Given the description of an element on the screen output the (x, y) to click on. 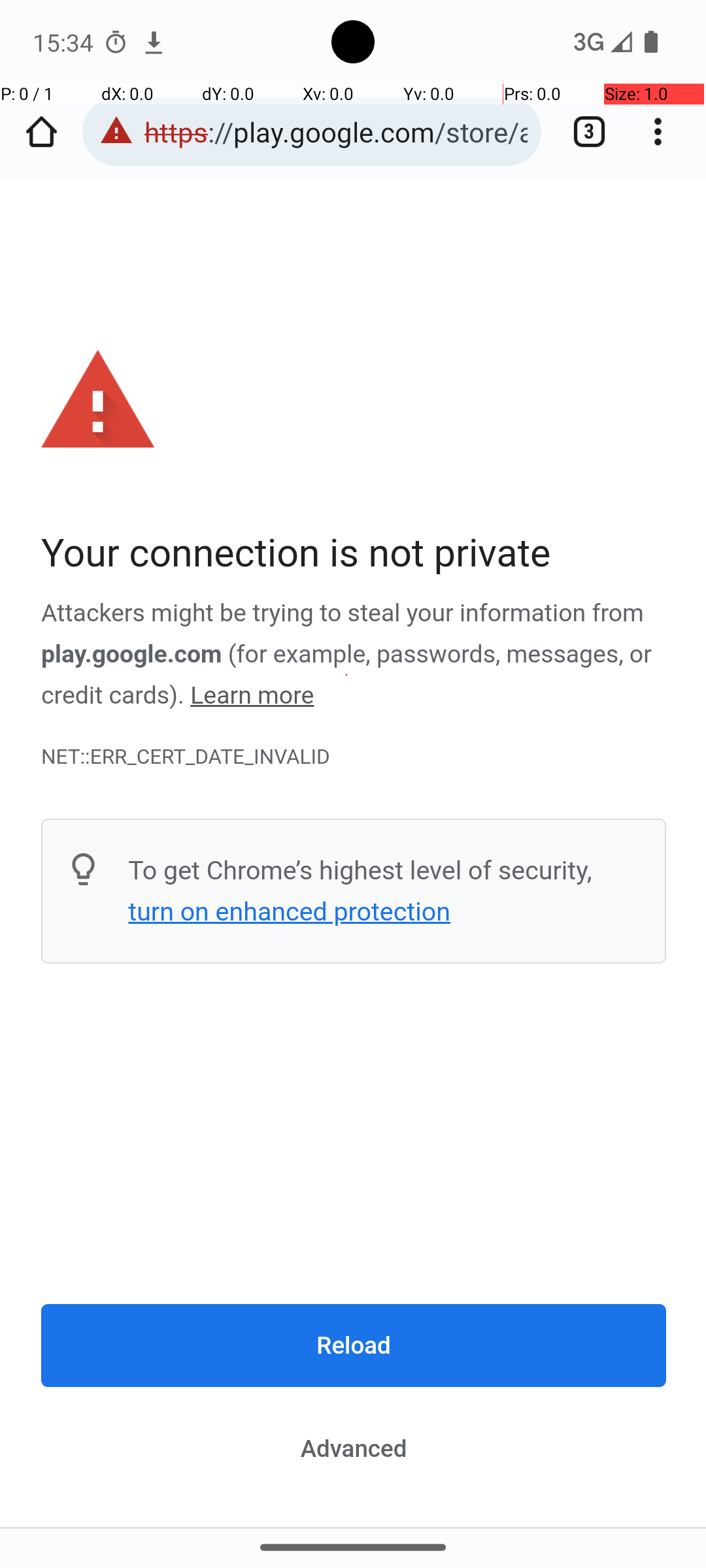
https://play.google.com/store/apps/details?id=com.google.android.apps.tachyon Element type: android.widget.EditText (335, 131)
Reload Element type: android.widget.Button (354, 1344)
play.google.com Element type: android.widget.TextView (131, 653)
Chrome notification: m.youtube.com Element type: android.widget.ImageView (153, 41)
